Given the description of an element on the screen output the (x, y) to click on. 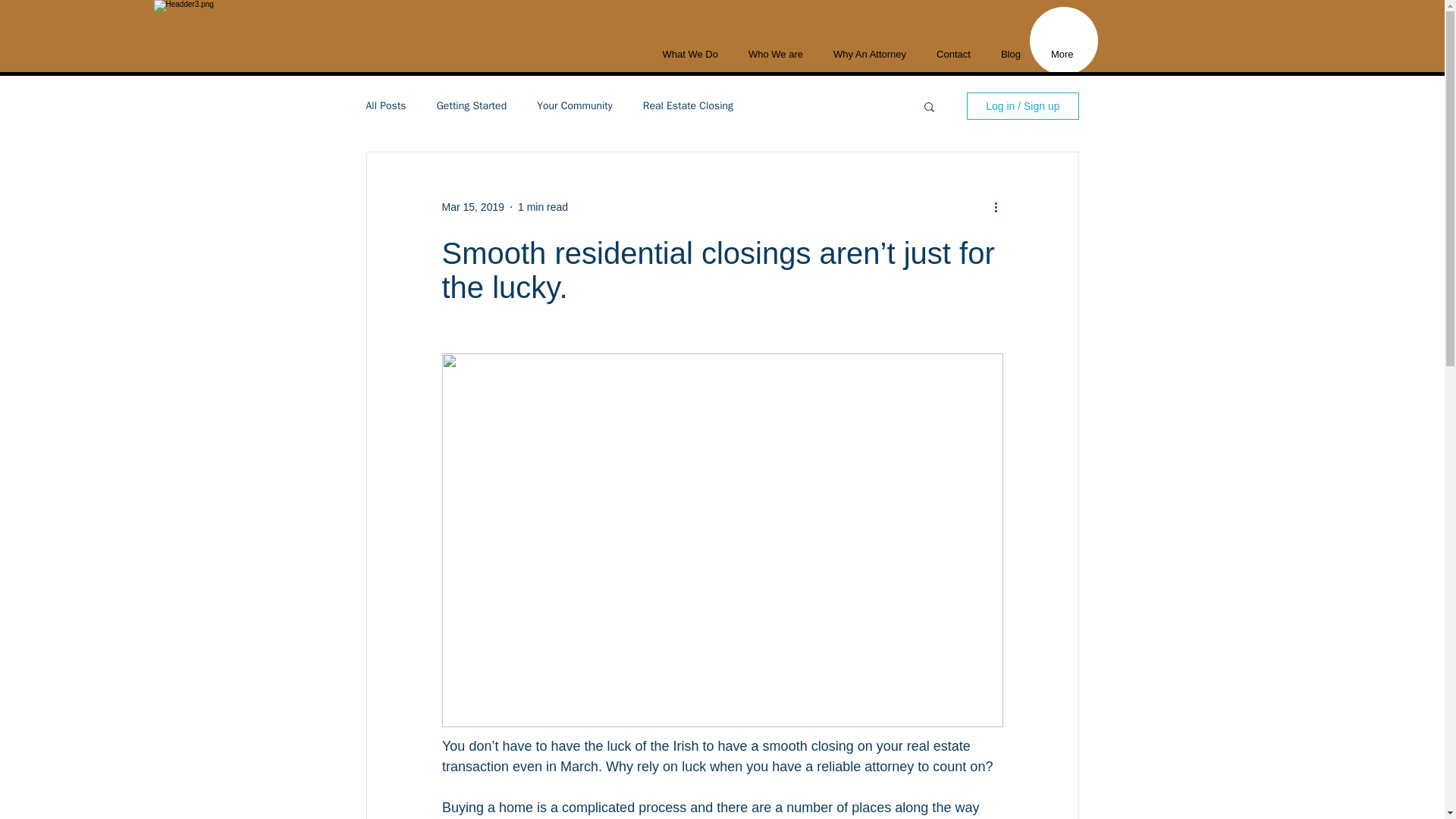
All Posts (385, 106)
Blog (1010, 56)
Contact (953, 56)
Who We are (775, 56)
Your Community (574, 106)
1 min read (542, 205)
What We Do (690, 56)
Mar 15, 2019 (472, 205)
Real Estate Closing (688, 106)
Why An Attorney (869, 56)
Getting Started (471, 106)
